Given the description of an element on the screen output the (x, y) to click on. 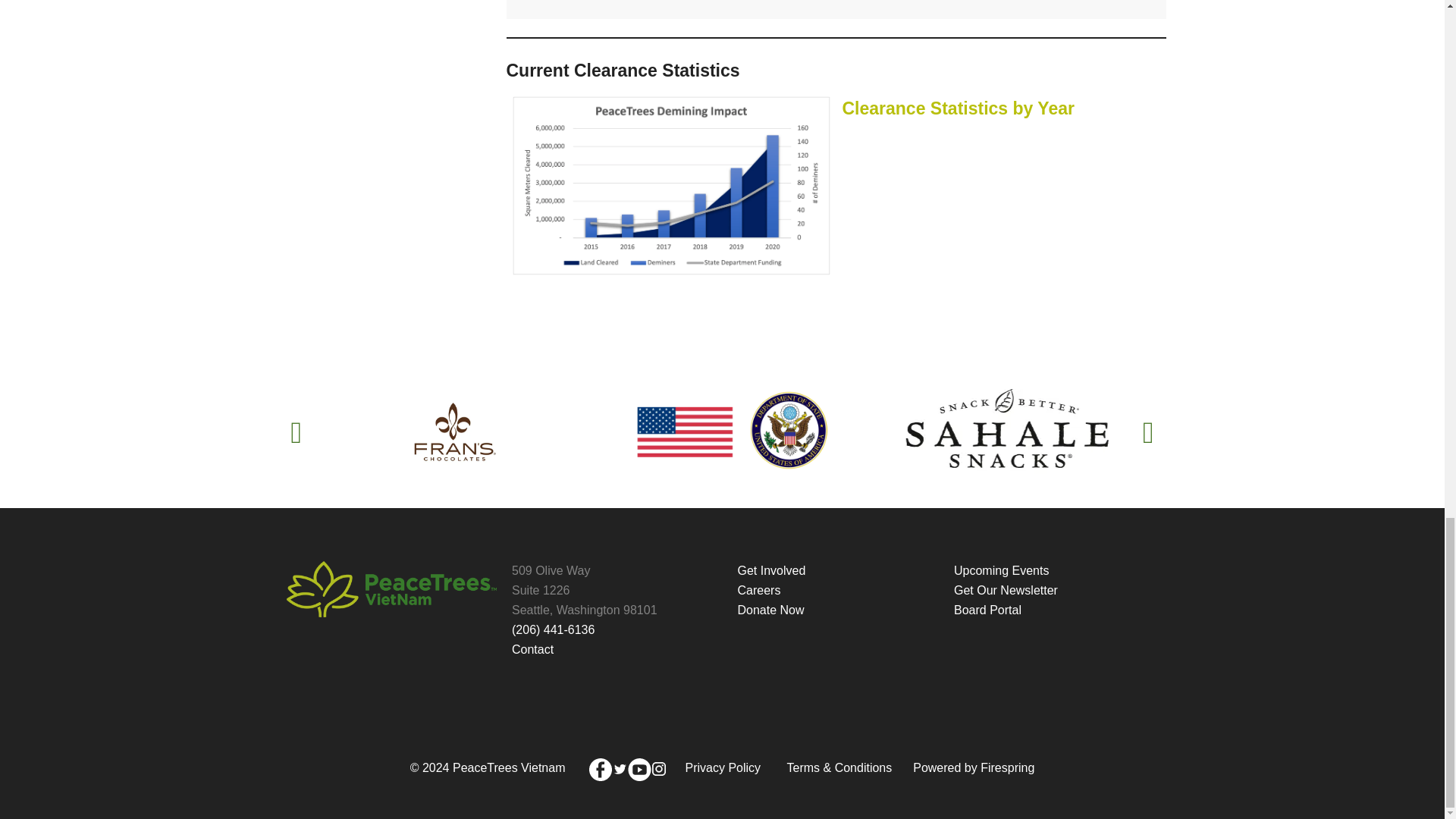
logo (391, 588)
